Given the description of an element on the screen output the (x, y) to click on. 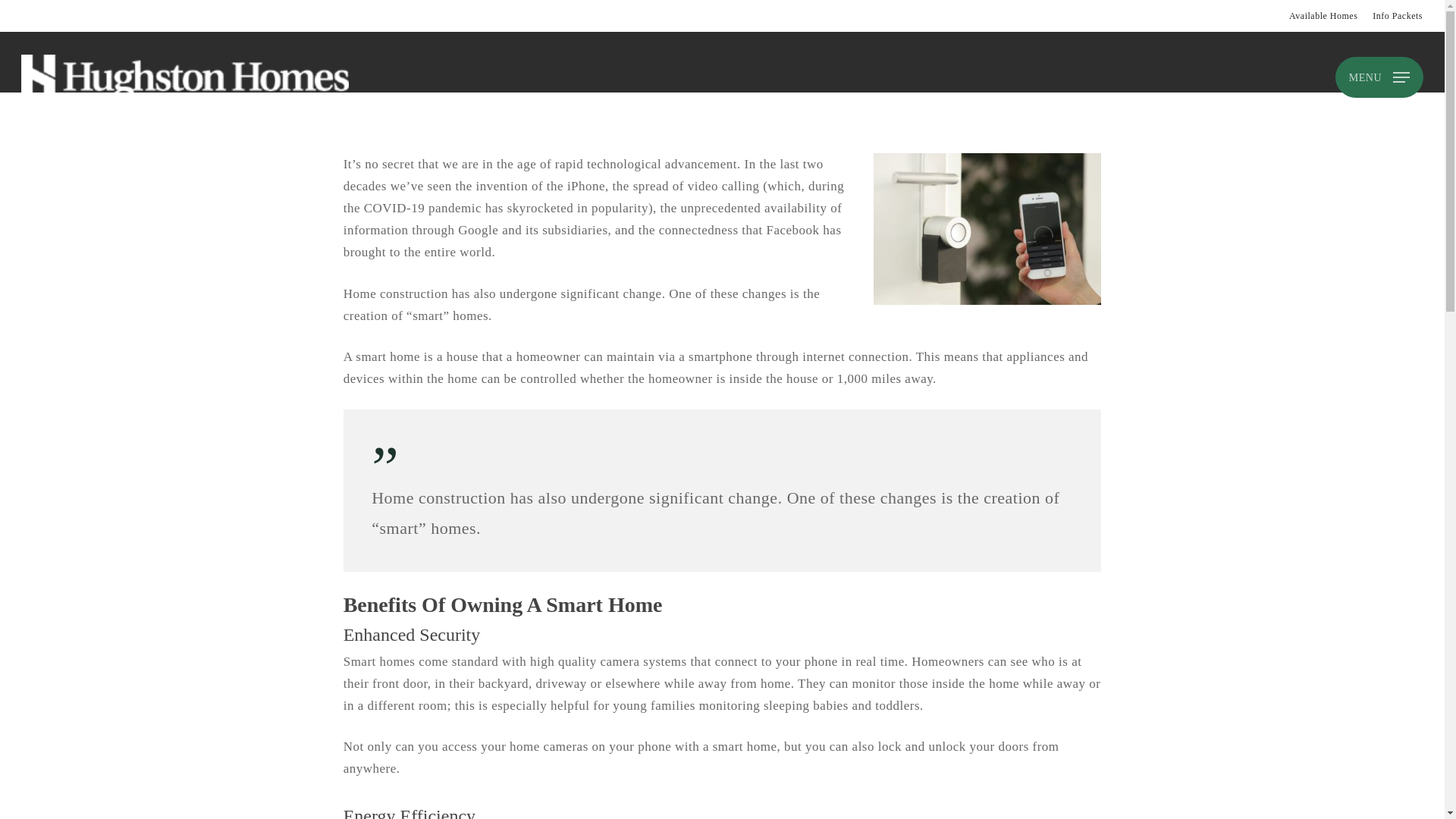
Info Packets (1397, 15)
MENU (1379, 77)
Available Homes (1322, 15)
